Given the description of an element on the screen output the (x, y) to click on. 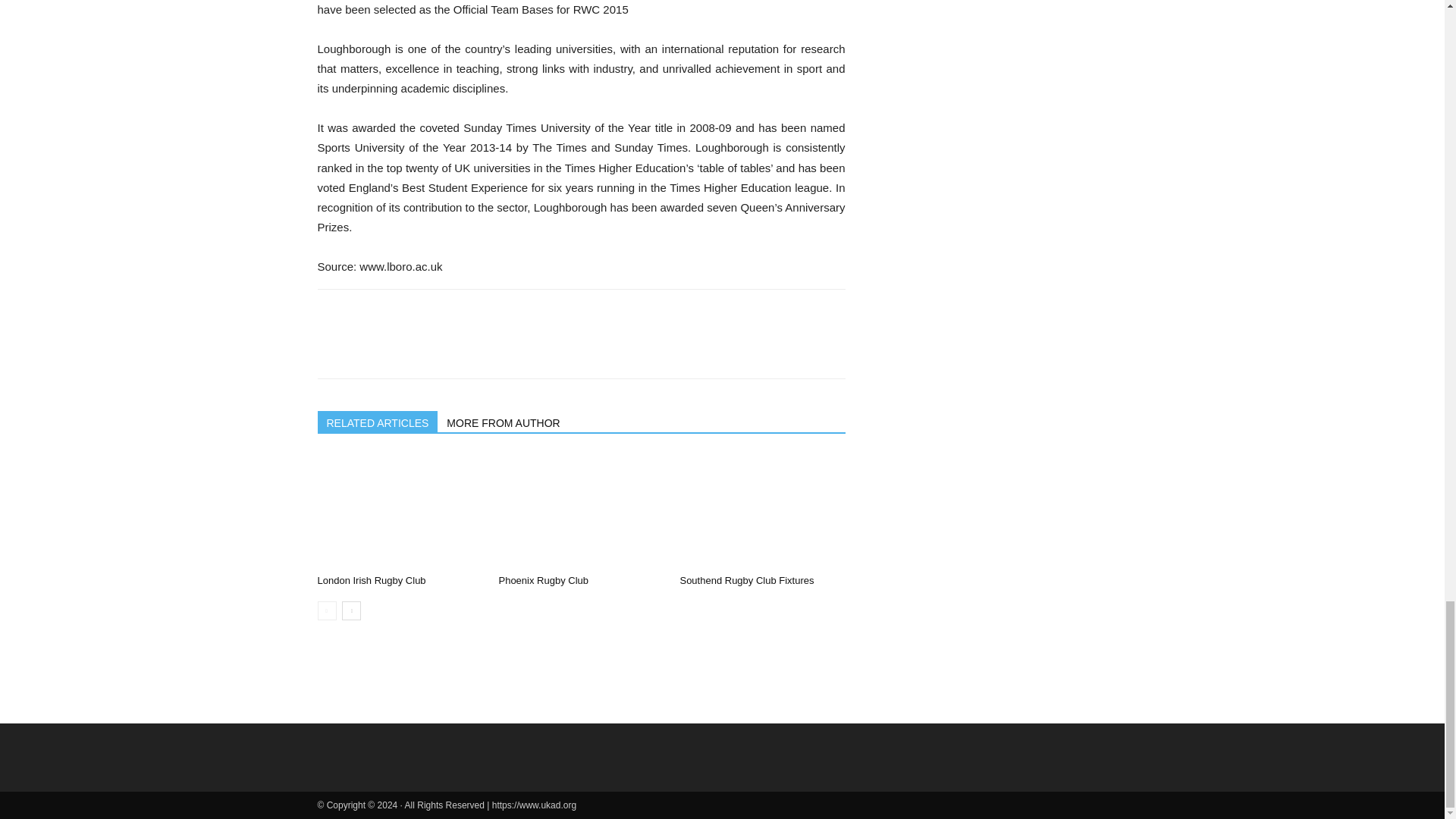
London Irish Rugby Club (399, 511)
London Irish Rugby Club (371, 580)
Phoenix Rugby Club (580, 511)
Phoenix Rugby Club (542, 580)
